Given the description of an element on the screen output the (x, y) to click on. 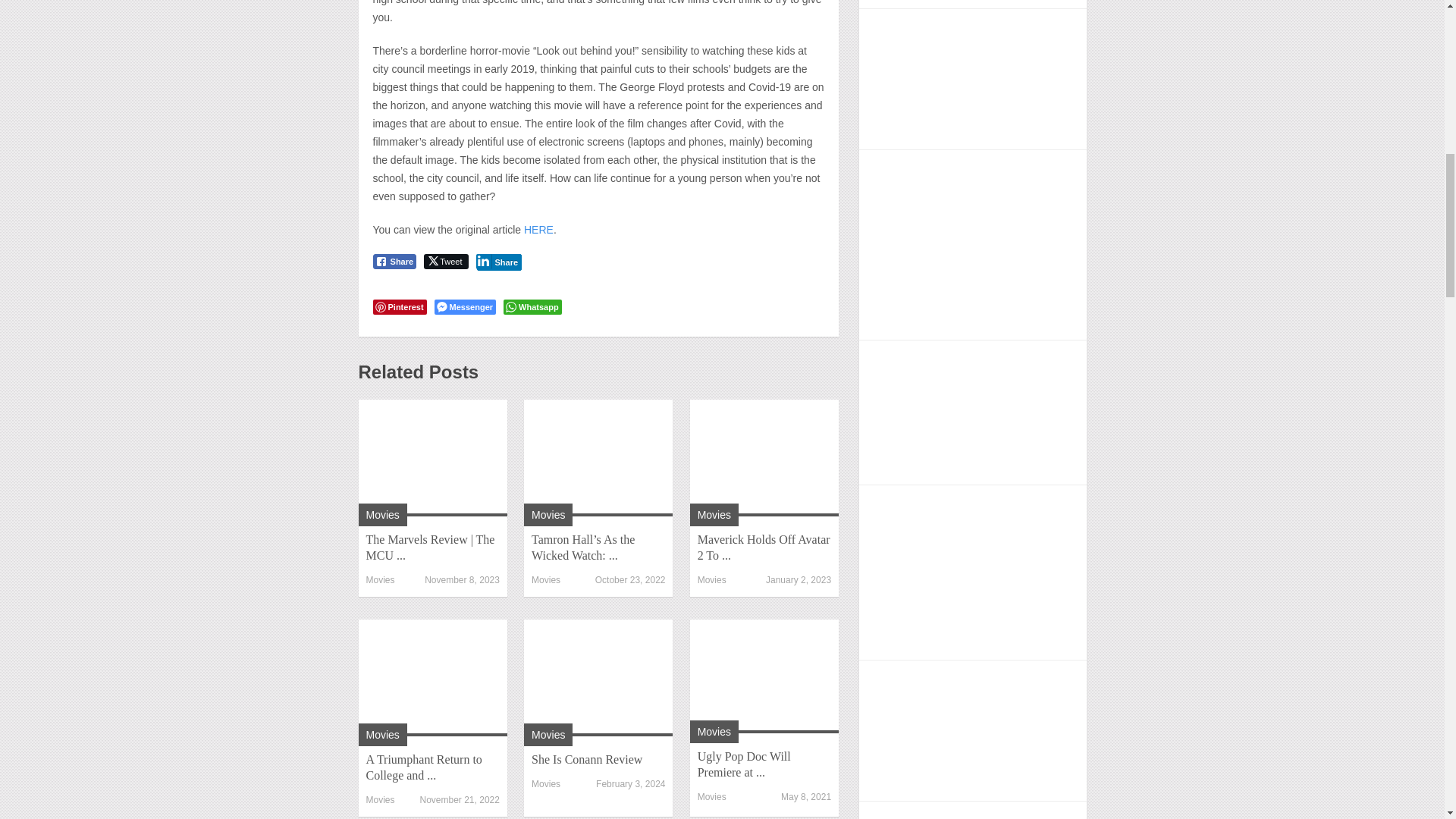
Share (394, 261)
Tweet (445, 261)
Messenger (464, 306)
Pinterest (399, 306)
Whatsapp (532, 306)
Share (499, 261)
HERE (537, 229)
